Given the description of an element on the screen output the (x, y) to click on. 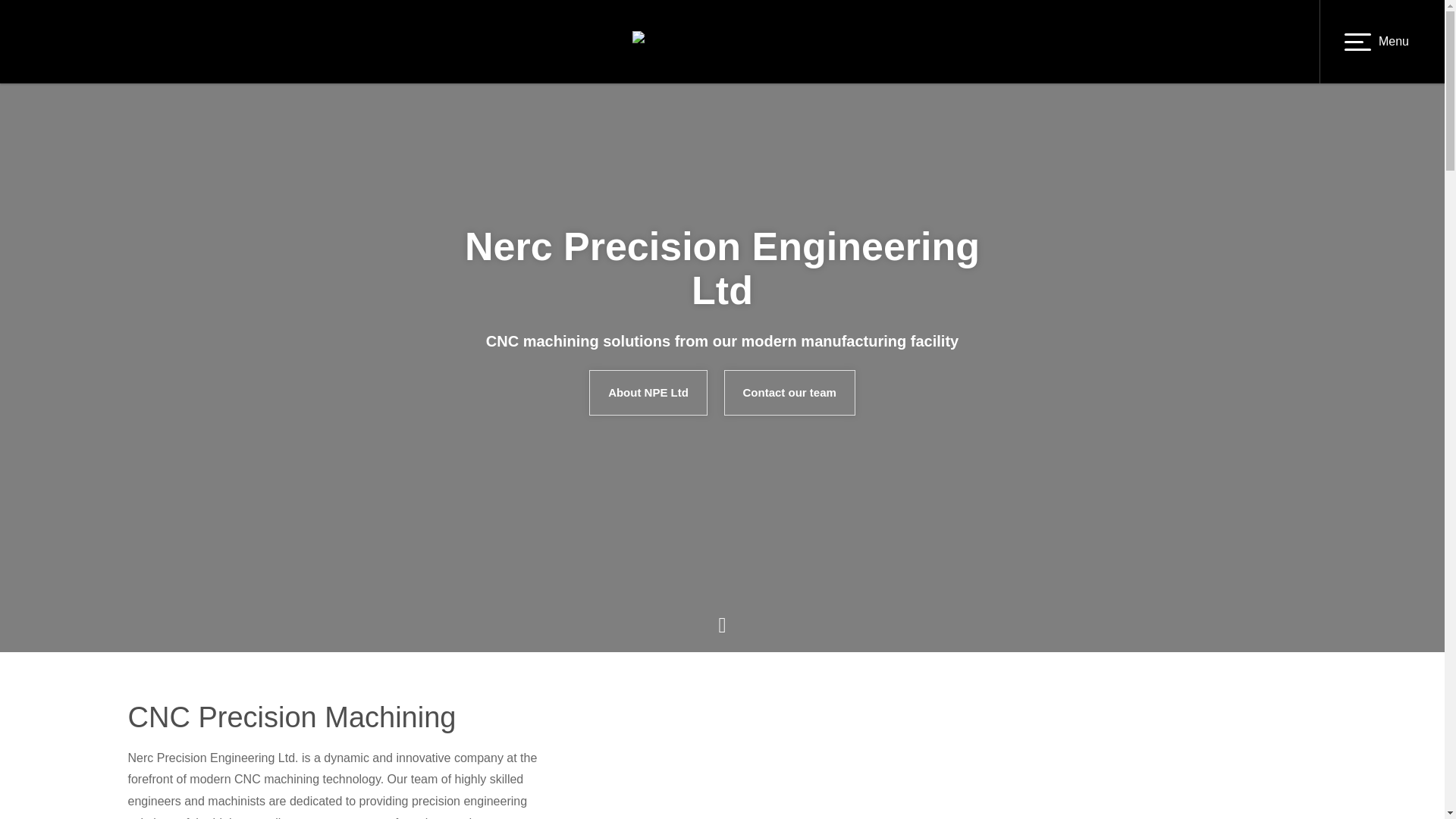
About NPE Ltd (648, 392)
Contact our team (789, 392)
NPE logo - white-01 (721, 42)
Menu (1375, 41)
